Given the description of an element on the screen output the (x, y) to click on. 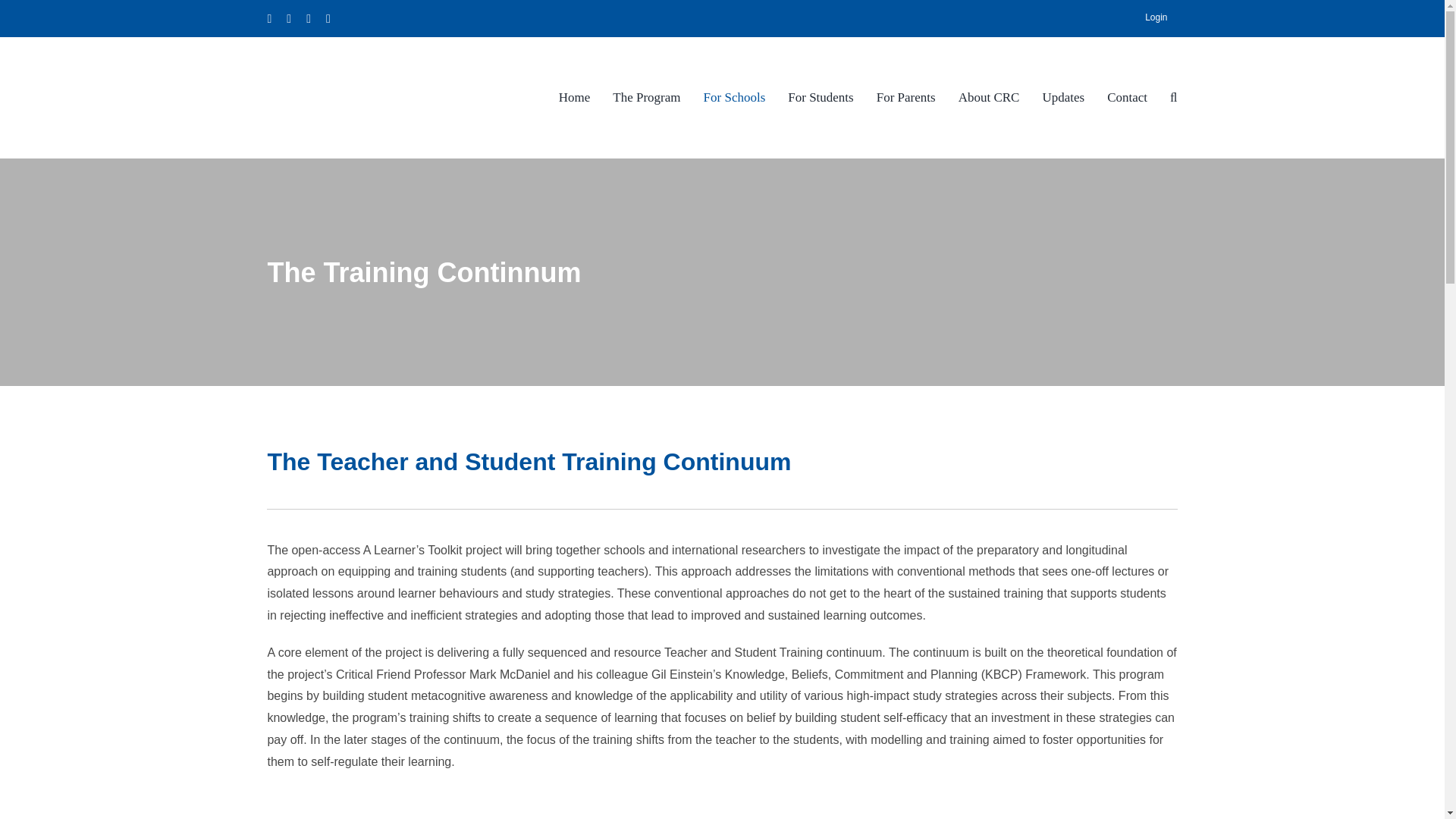
Instagram (288, 18)
YouTube (308, 18)
The Program (645, 97)
YouTube (308, 18)
X (268, 18)
X (268, 18)
Contact (1126, 97)
LinkedIn (328, 18)
For Schools (734, 97)
Instagram (288, 18)
Login (1155, 18)
About CRC (989, 97)
Home (575, 97)
Updates (1063, 97)
